Given the description of an element on the screen output the (x, y) to click on. 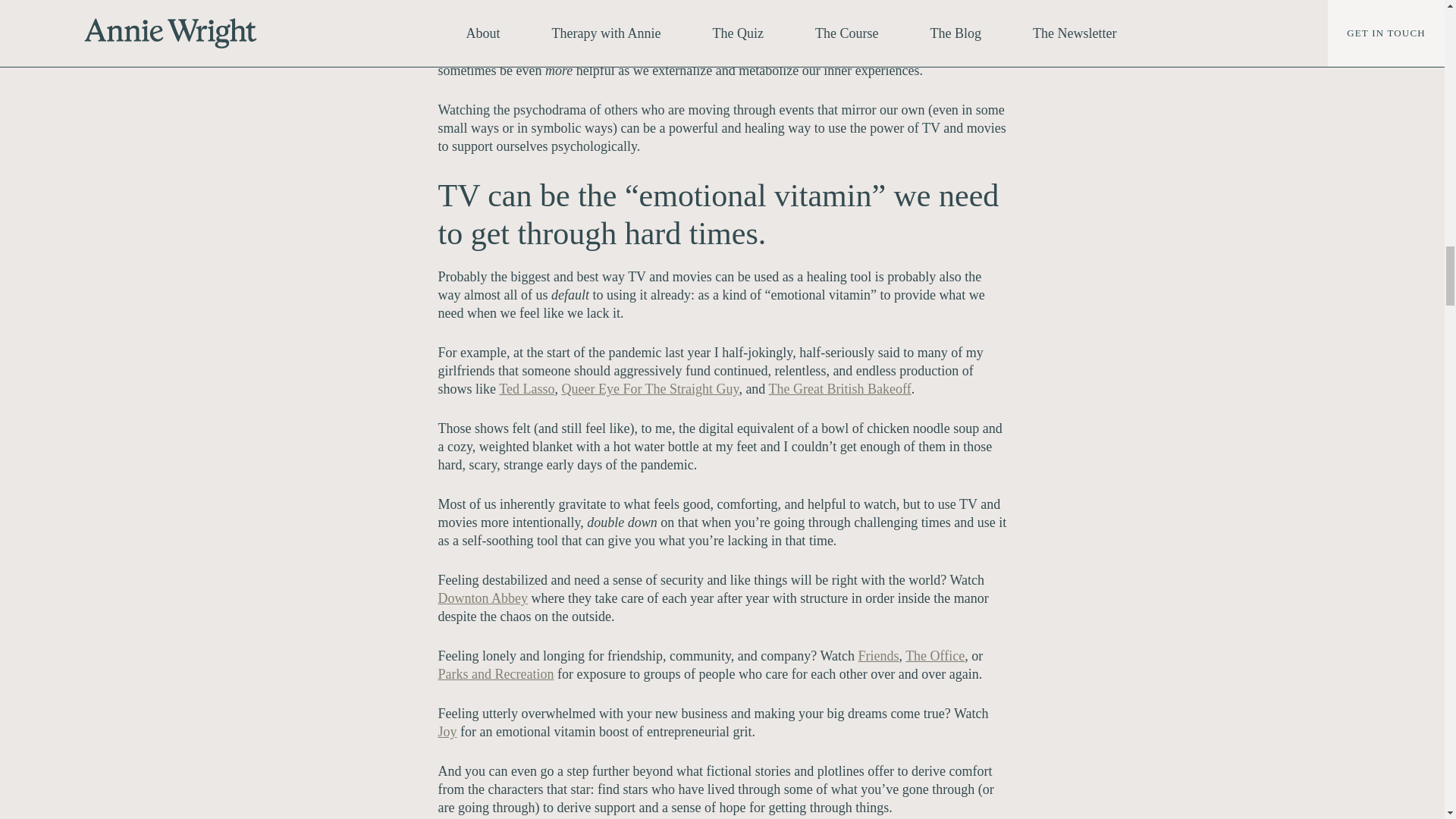
The Office (934, 655)
Downton Abbey (483, 598)
Ted Lasso (526, 388)
Friends (877, 655)
The Great British Bakeoff (839, 388)
Queer Eye For The Straight Guy (649, 388)
